Given the description of an element on the screen output the (x, y) to click on. 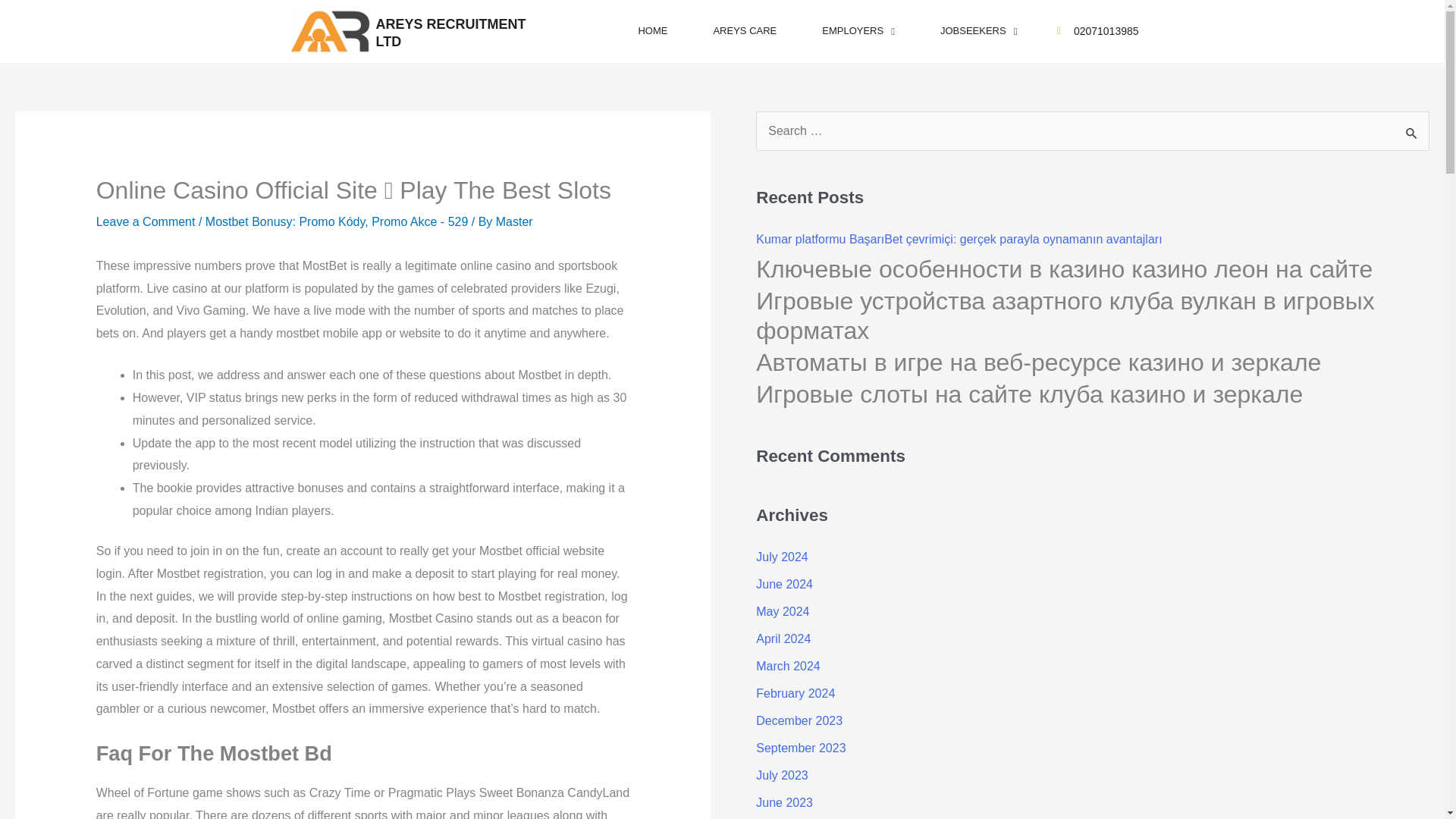
June 2024 (783, 584)
March 2024 (788, 666)
Leave a Comment (145, 221)
JOBSEEKERS (978, 30)
HOME (651, 30)
AREYS RECRUITMENT LTD (450, 32)
AREYS CARE (744, 30)
April 2024 (782, 638)
July 2024 (781, 556)
02071013985 (1105, 30)
View all posts by Master (514, 221)
Master (514, 221)
May 2024 (782, 611)
EMPLOYERS (858, 30)
